Given the description of an element on the screen output the (x, y) to click on. 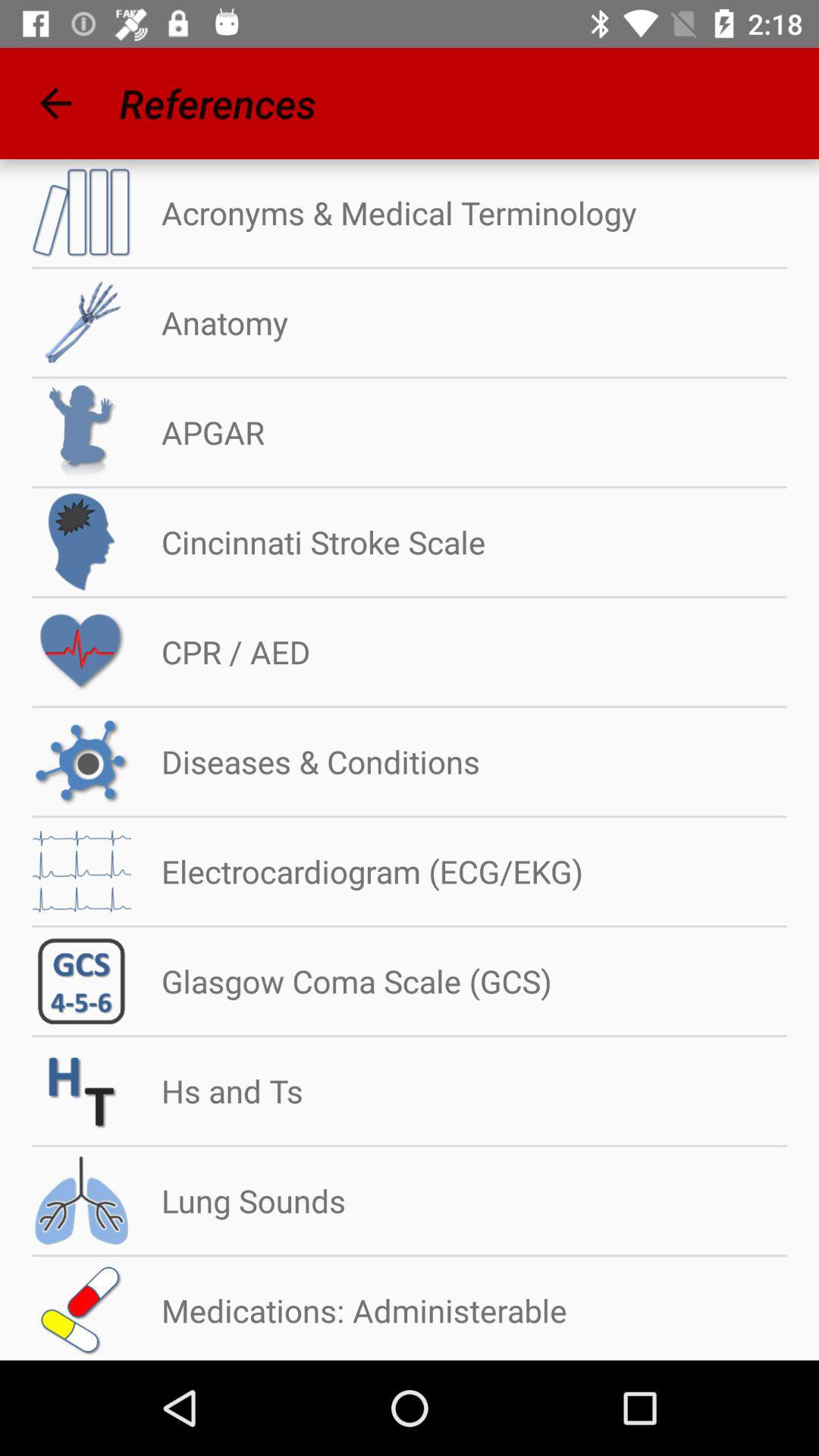
scroll to lung sounds icon (238, 1200)
